Given the description of an element on the screen output the (x, y) to click on. 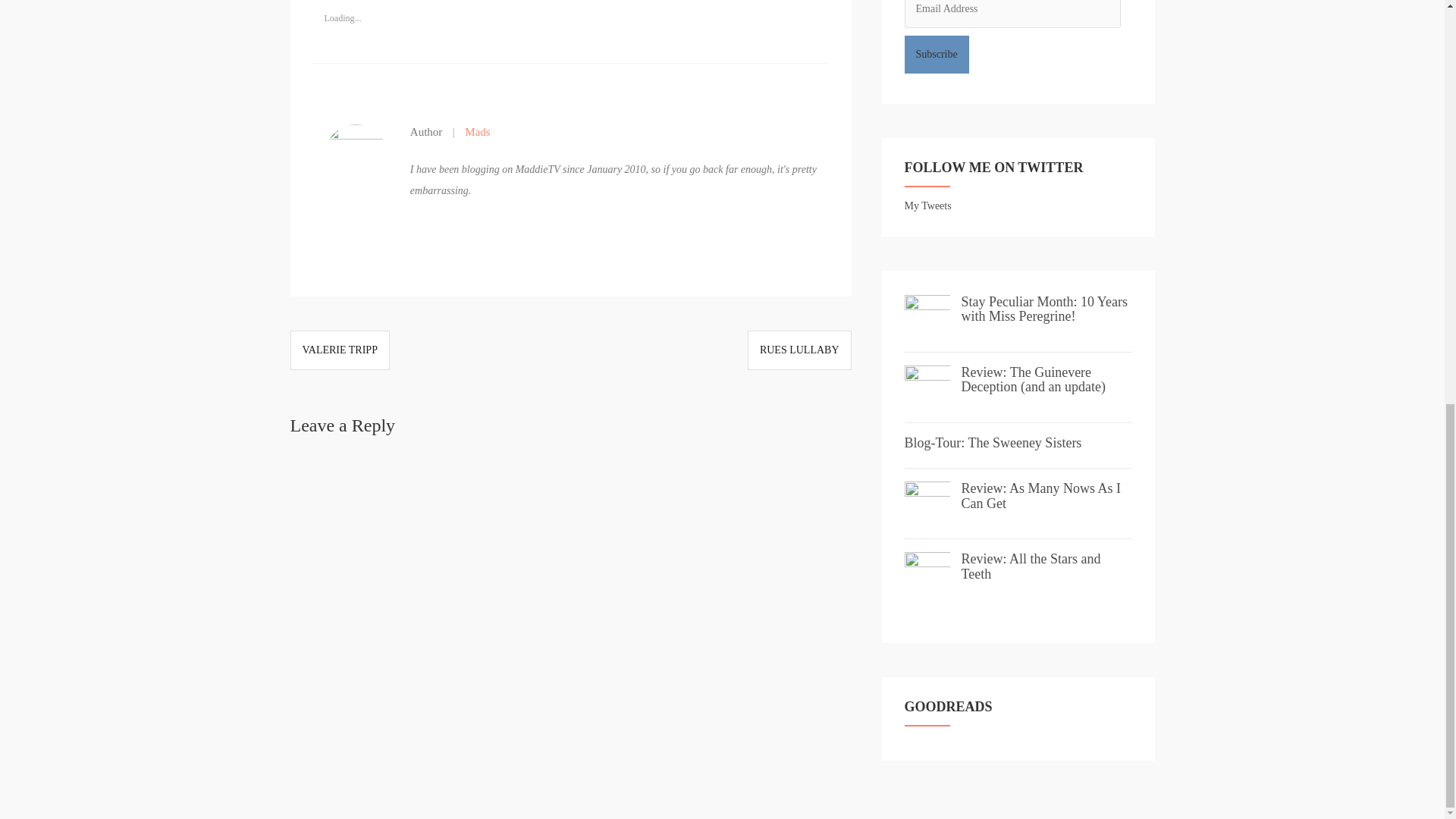
Subscribe (936, 54)
My Tweets (927, 205)
Mads (473, 132)
Review: All the Stars and Teeth (1030, 566)
Review: As Many Nows As I Can Get (1040, 495)
VALERIE TRIPP (339, 349)
RUES LULLABY (800, 349)
Blog-Tour: The Sweeney Sisters (992, 442)
Stay Peculiar Month: 10 Years with Miss Peregrine! (1044, 309)
